Given the description of an element on the screen output the (x, y) to click on. 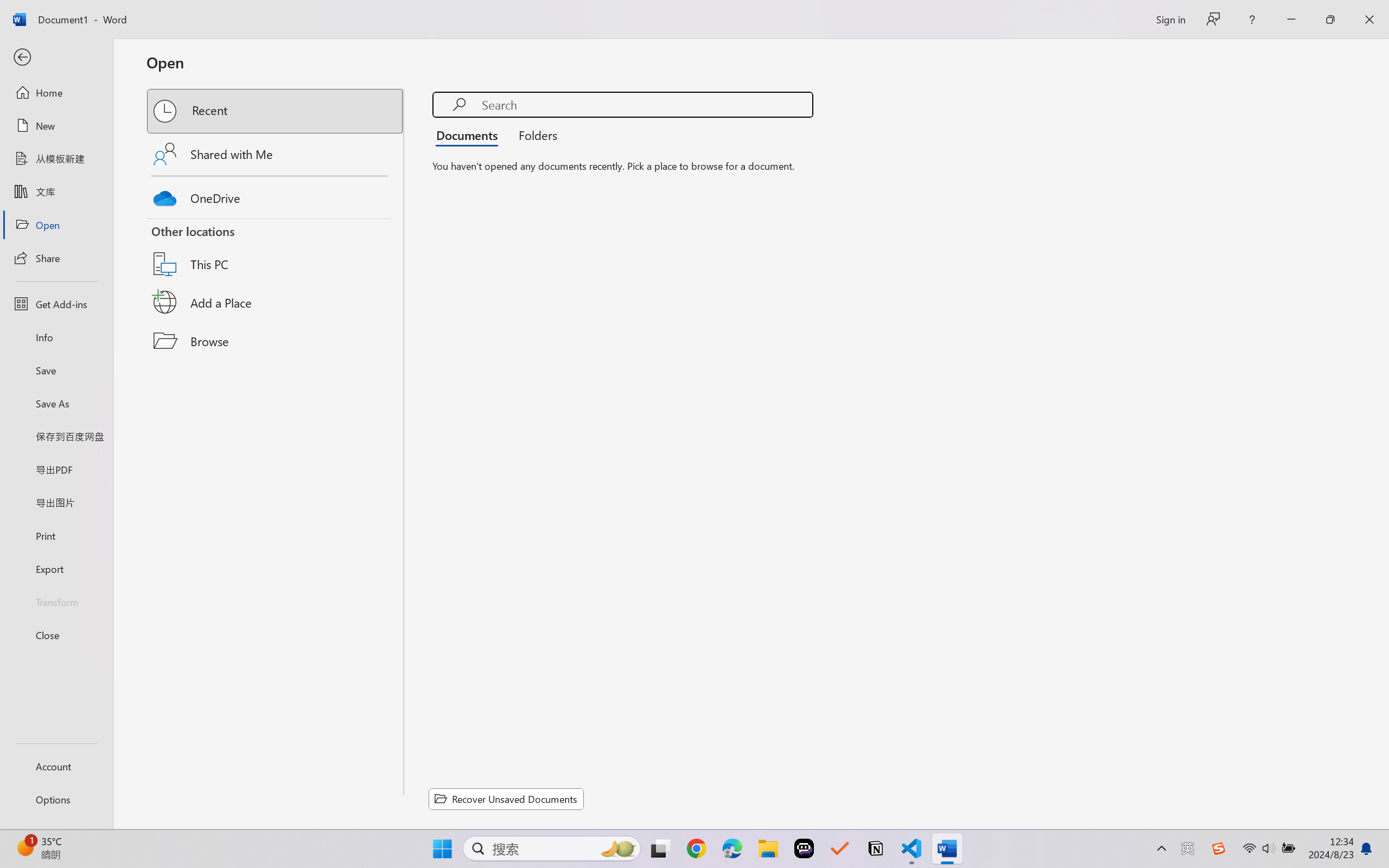
New (56, 125)
Print (56, 535)
Recent (275, 110)
Recover Unsaved Documents (506, 798)
Folders (534, 134)
Transform (56, 601)
